Given the description of an element on the screen output the (x, y) to click on. 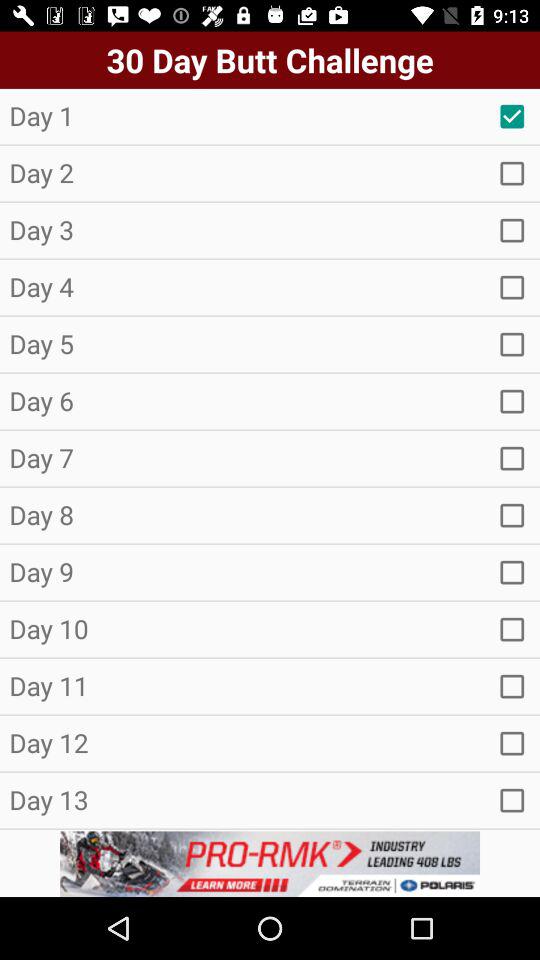
day select button (512, 173)
